Given the description of an element on the screen output the (x, y) to click on. 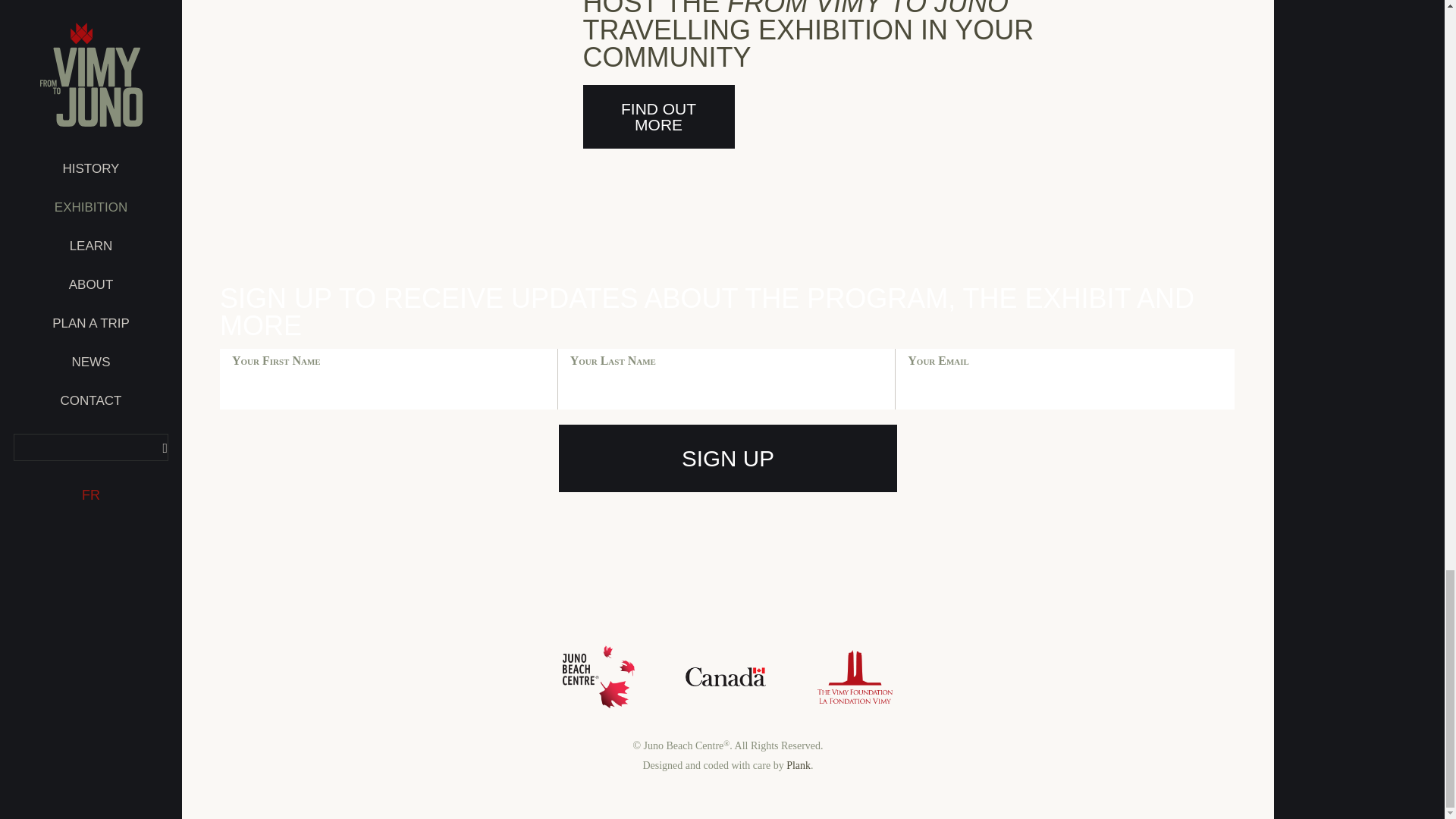
Sign Up (727, 458)
